Given the description of an element on the screen output the (x, y) to click on. 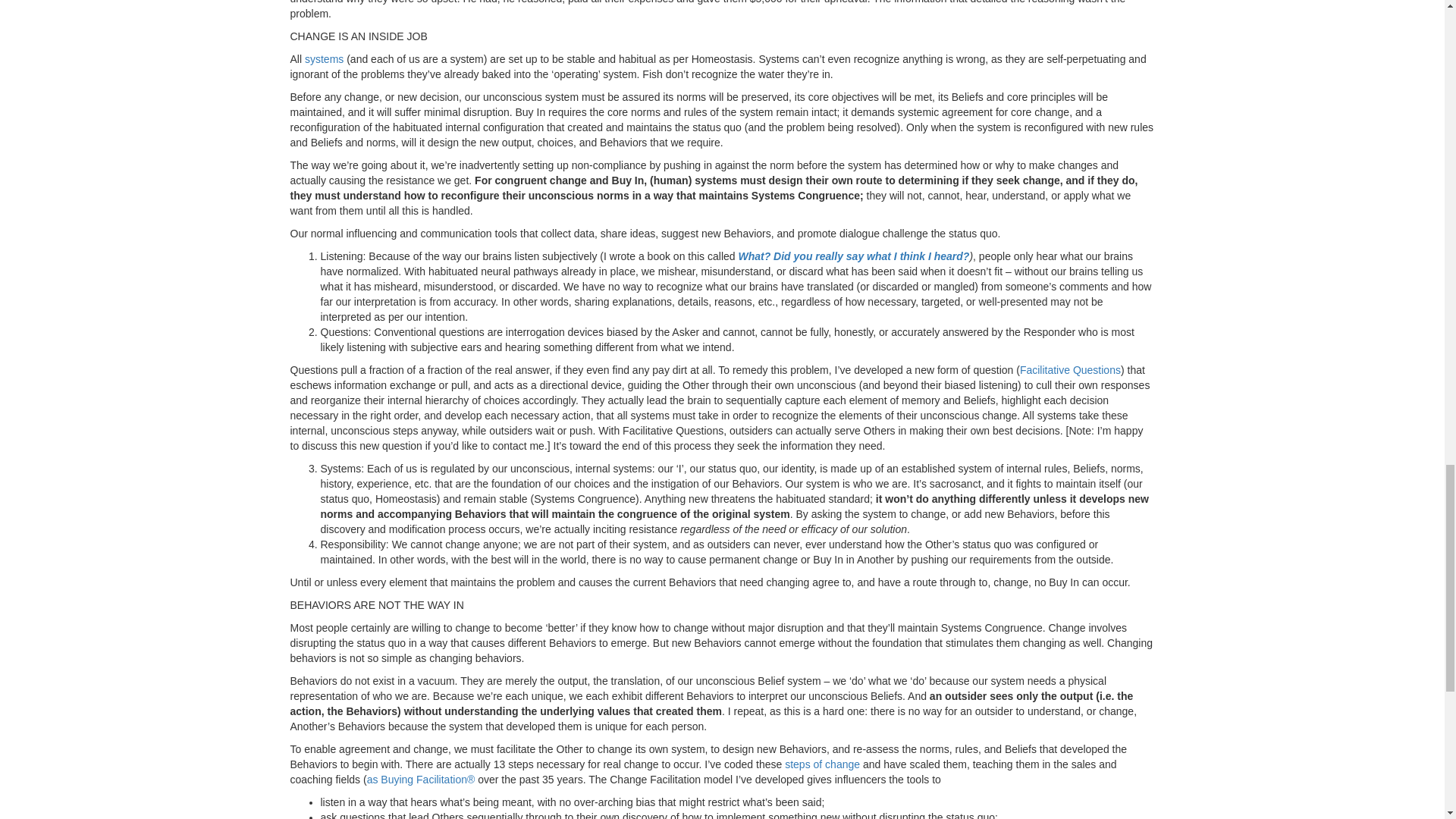
steps of change (822, 764)
systems (323, 59)
Facilitative Questions (1070, 369)
What? Did you really say what I think I heard? (853, 256)
